Given the description of an element on the screen output the (x, y) to click on. 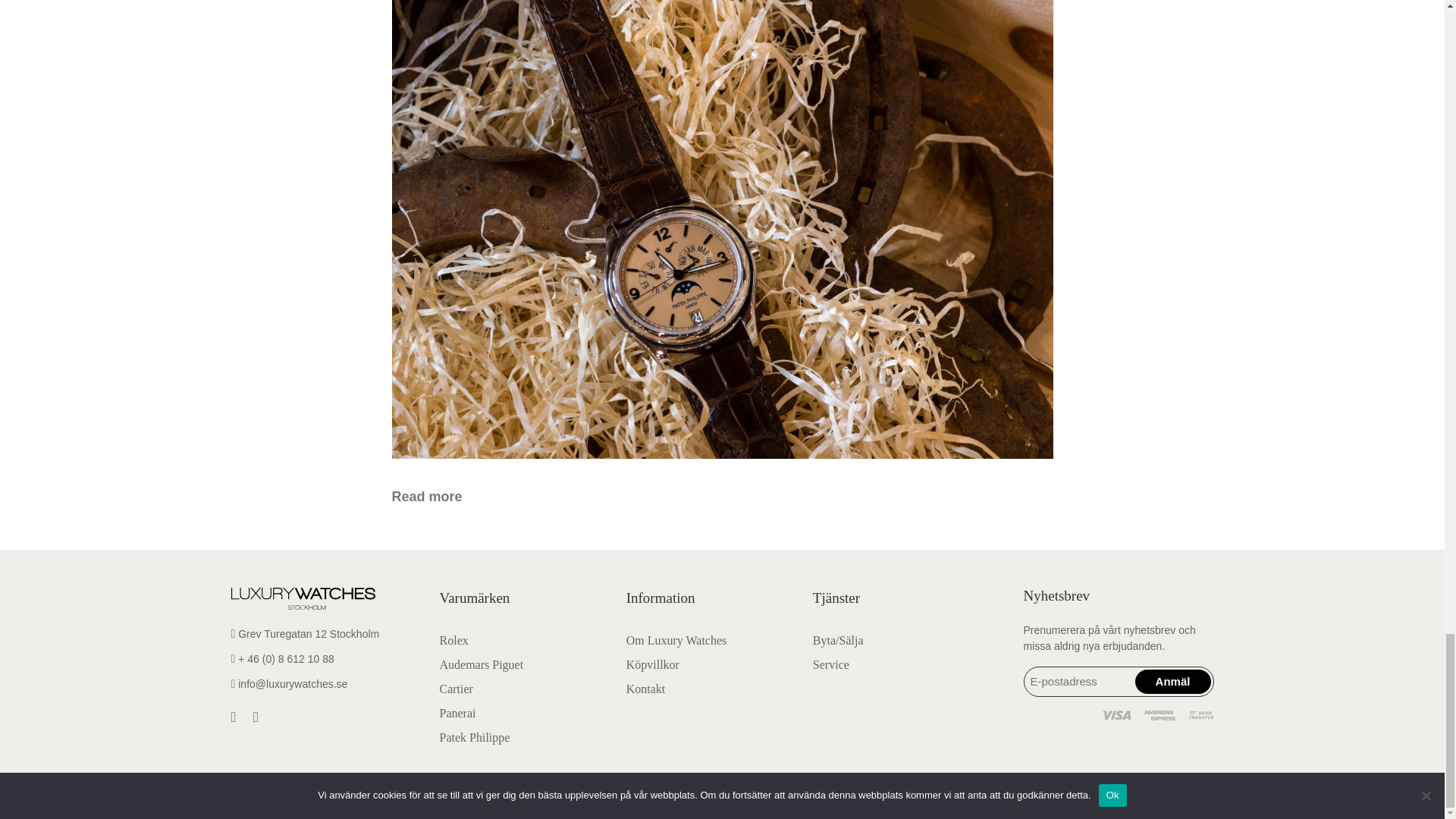
Grev Turegatan 12 Stockholm (325, 634)
Read more (426, 496)
Audemars Piguet (481, 664)
Rolex (453, 640)
